Given the description of an element on the screen output the (x, y) to click on. 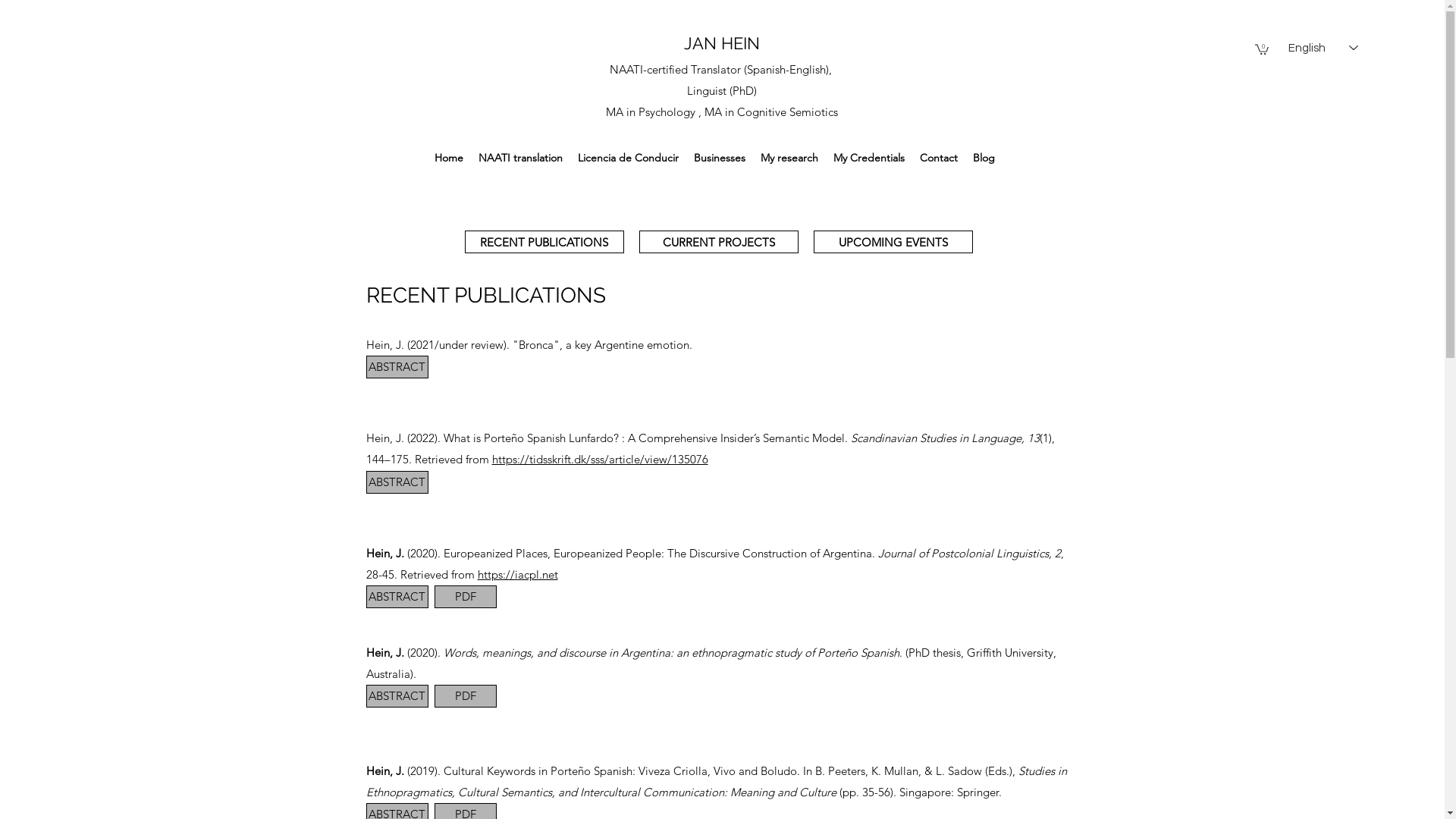
UPCOMING EVENTS Element type: text (892, 241)
RECENT PUBLICATIONS Element type: text (543, 241)
Blog Element type: text (983, 157)
https://tidsskrift.dk/sss/article/view/135076 Element type: text (599, 458)
https://iacpl.net Element type: text (517, 574)
JAN HEIN Element type: text (721, 43)
0 Element type: text (1261, 48)
CURRENT PROJECTS Element type: text (717, 241)
Home Element type: text (448, 157)
ABSTRACT Element type: text (396, 481)
NAATI translation Element type: text (520, 157)
ABSTRACT Element type: text (396, 596)
ABSTRACT Element type: text (396, 695)
Businesses Element type: text (719, 157)
PDF Element type: text (464, 596)
Contact Element type: text (938, 157)
PDF Element type: text (464, 695)
My Credentials Element type: text (868, 157)
Licencia de Conducir Element type: text (628, 157)
My research Element type: text (789, 157)
ABSTRACT Element type: text (396, 366)
